Given the description of an element on the screen output the (x, y) to click on. 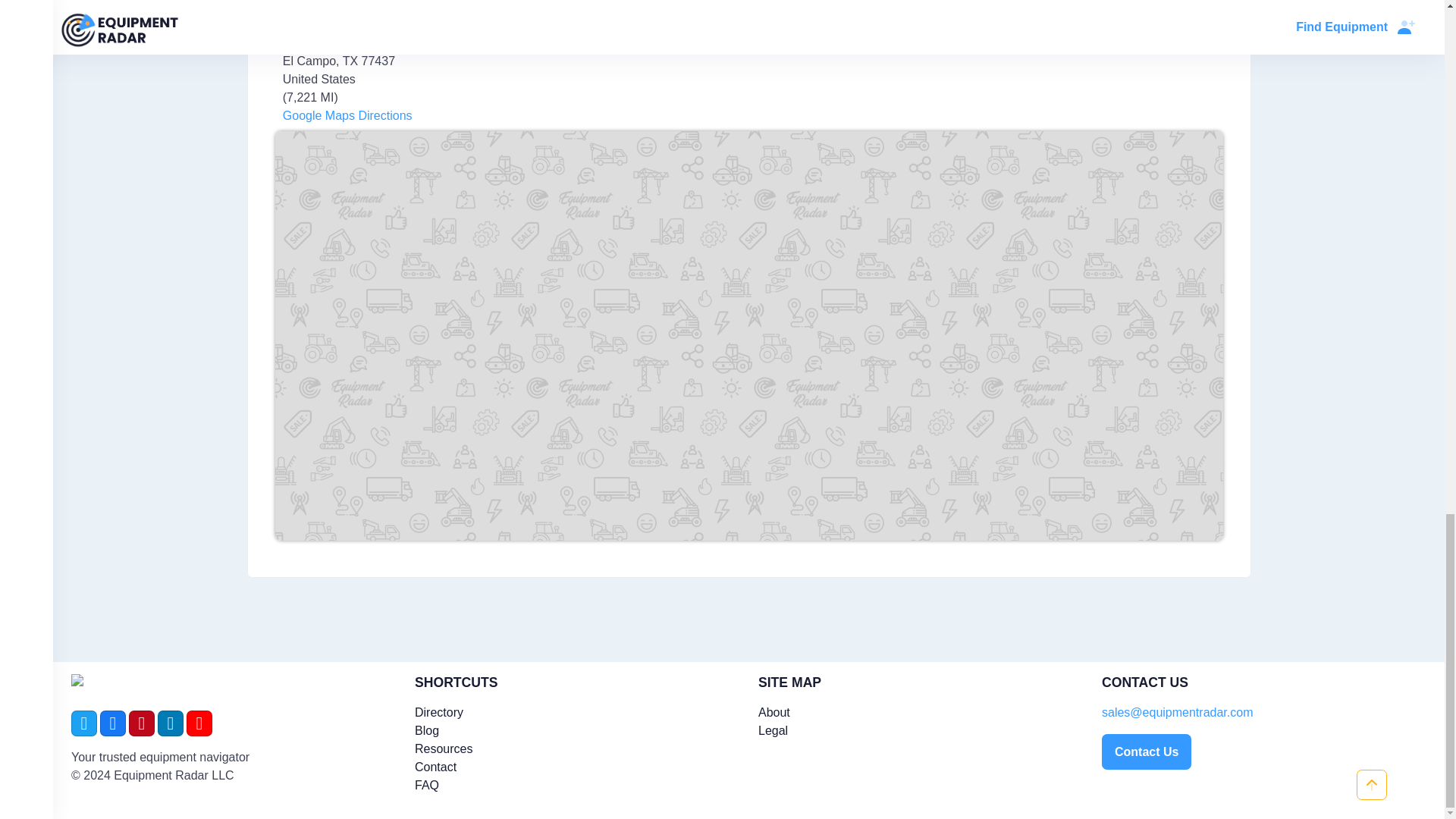
LinkedIn (170, 723)
Google Maps Directions (345, 115)
FAQ (426, 784)
Facebook (112, 723)
Resources (442, 748)
Contact (435, 766)
Contact Us (1146, 751)
Youtube (199, 723)
Pinterest (141, 723)
About (774, 712)
